Given the description of an element on the screen output the (x, y) to click on. 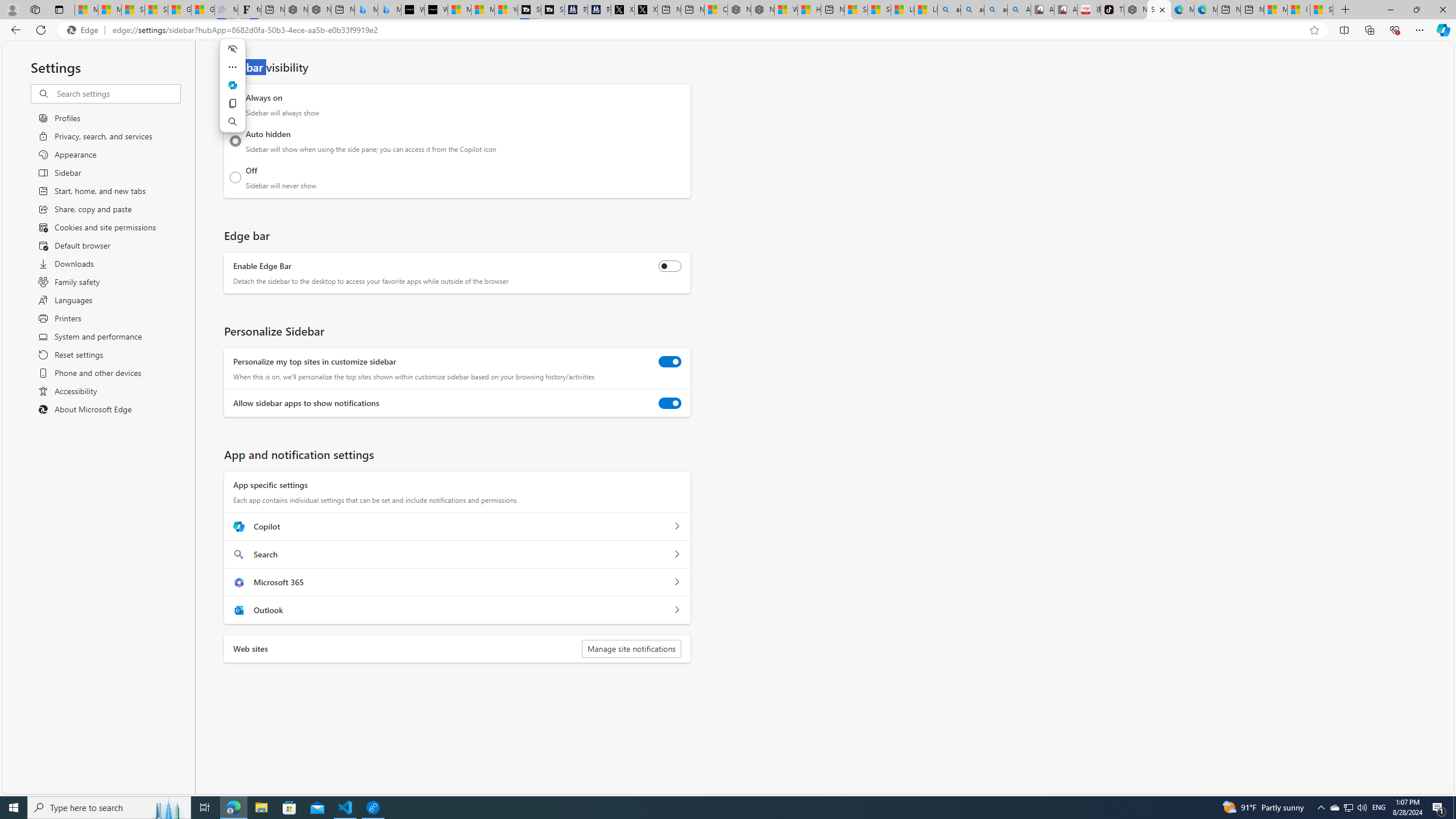
Huge shark washes ashore at New York City beach | Watch (809, 9)
amazon - Search Images (995, 9)
Streaming Coverage | T3 (529, 9)
Copilot (676, 526)
Search settings (117, 93)
